Given the description of an element on the screen output the (x, y) to click on. 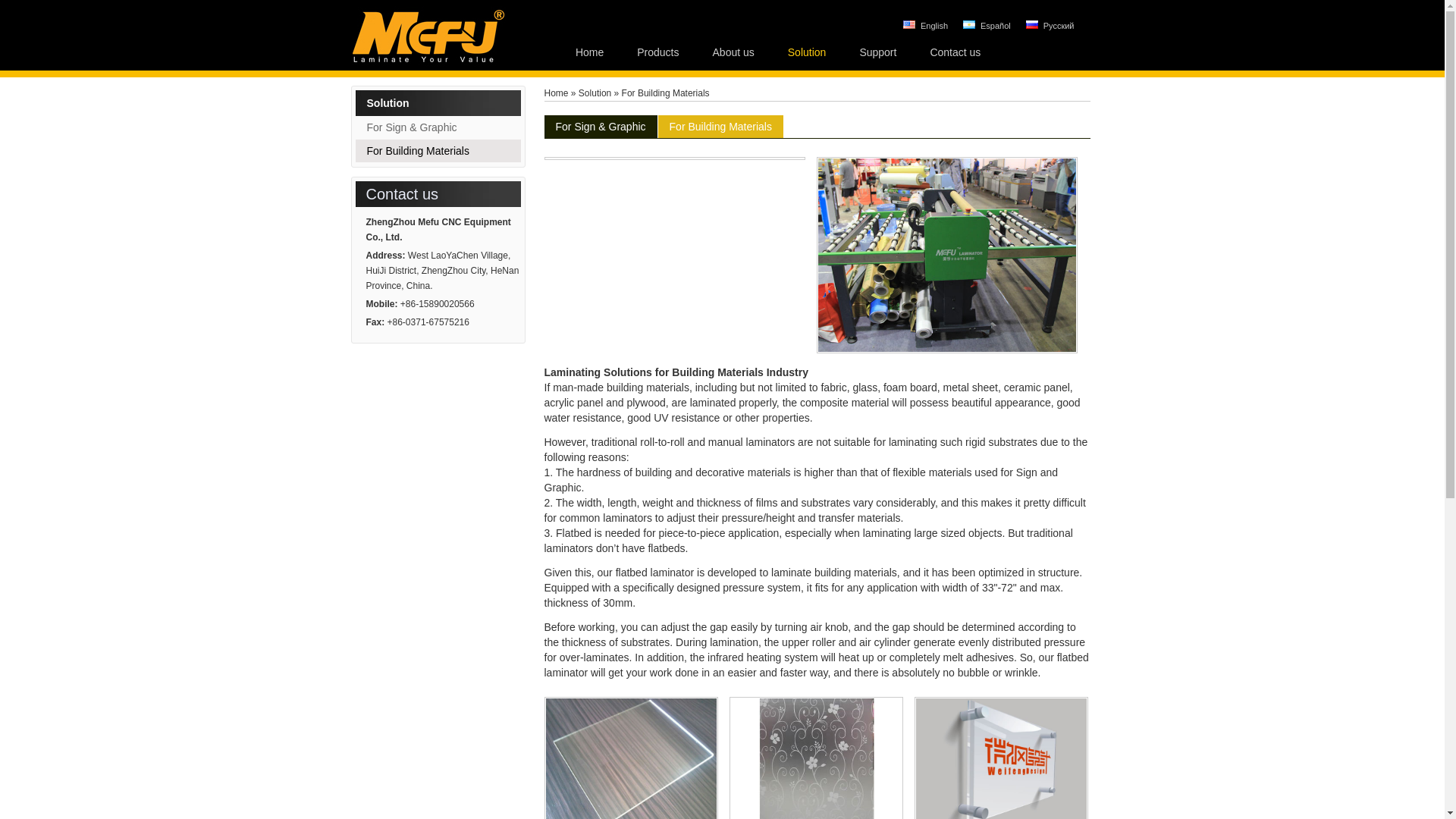
About us (733, 52)
Solution (594, 92)
Contact us (954, 52)
Home (556, 92)
For Building Materials (665, 92)
Support (877, 52)
English (924, 25)
Products (657, 52)
About us (733, 52)
Home (589, 52)
